Given the description of an element on the screen output the (x, y) to click on. 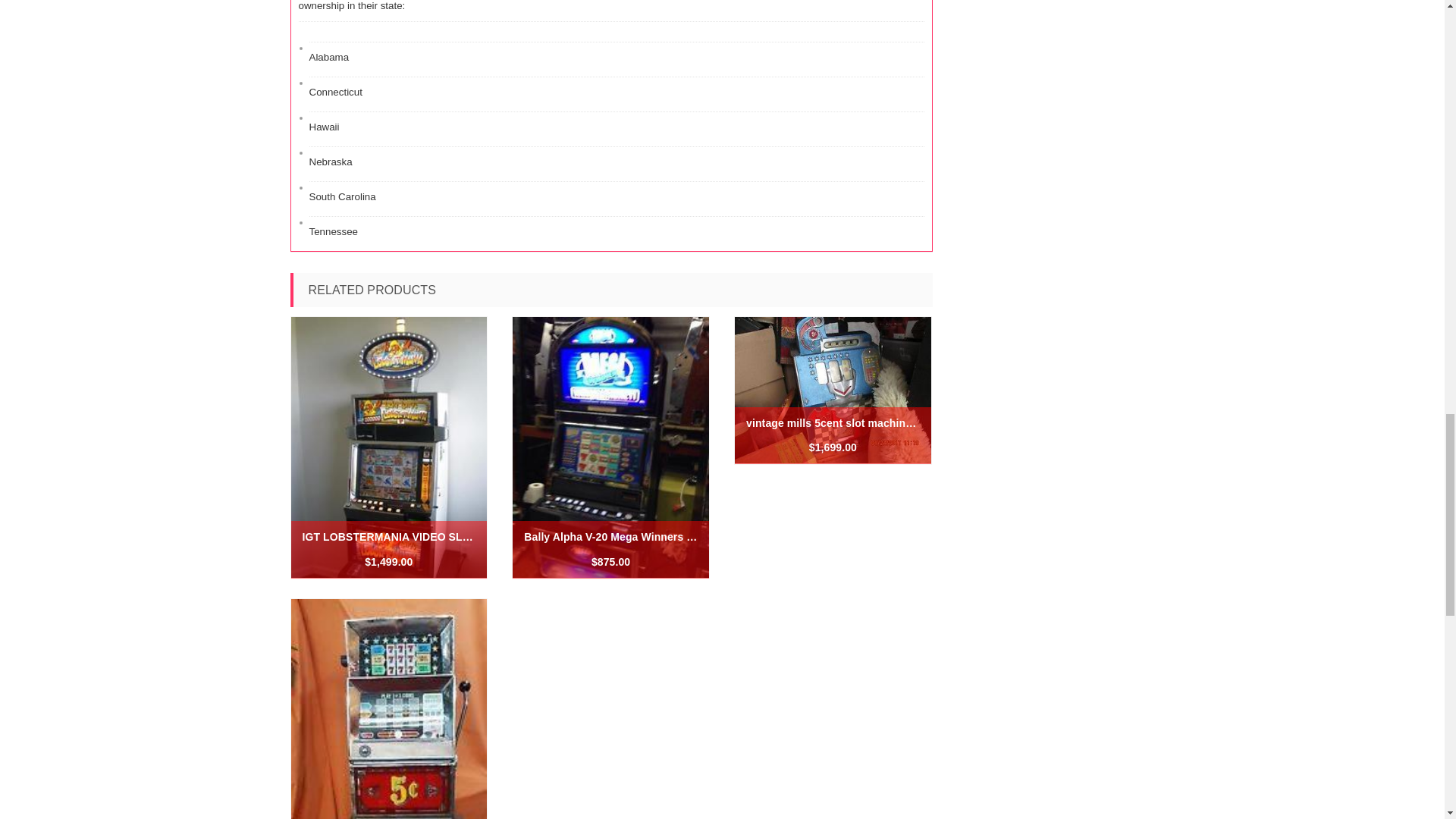
vintage mills 5cent slot machine 1930s (832, 423)
vintage mills 5cent slot machine 1930s (832, 423)
Bally Alpha V-20 Mega Winners video slot machine (610, 536)
Bally Alpha V-20 Mega Winners video slot machine (610, 536)
